Given the description of an element on the screen output the (x, y) to click on. 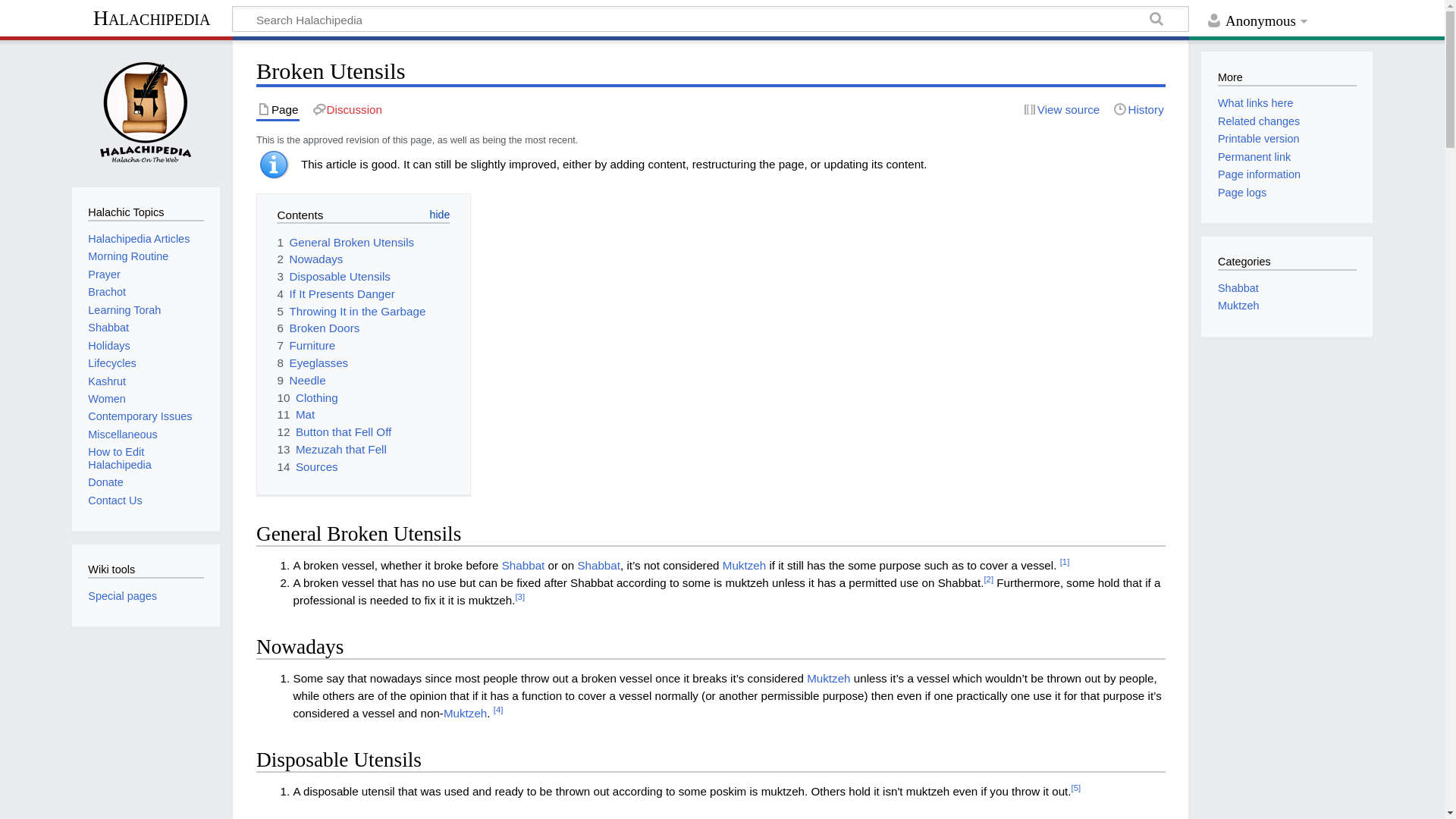
4 If It Presents Danger (335, 293)
12 Button that Fell Off (333, 431)
Halachipedia (151, 19)
3 Disposable Utensils (333, 276)
13 Mezuzah that Fell (330, 449)
Muktzeh (828, 677)
Shabbat (598, 564)
Discussion (347, 109)
9 Needle (300, 379)
10 Clothing (306, 397)
